Given the description of an element on the screen output the (x, y) to click on. 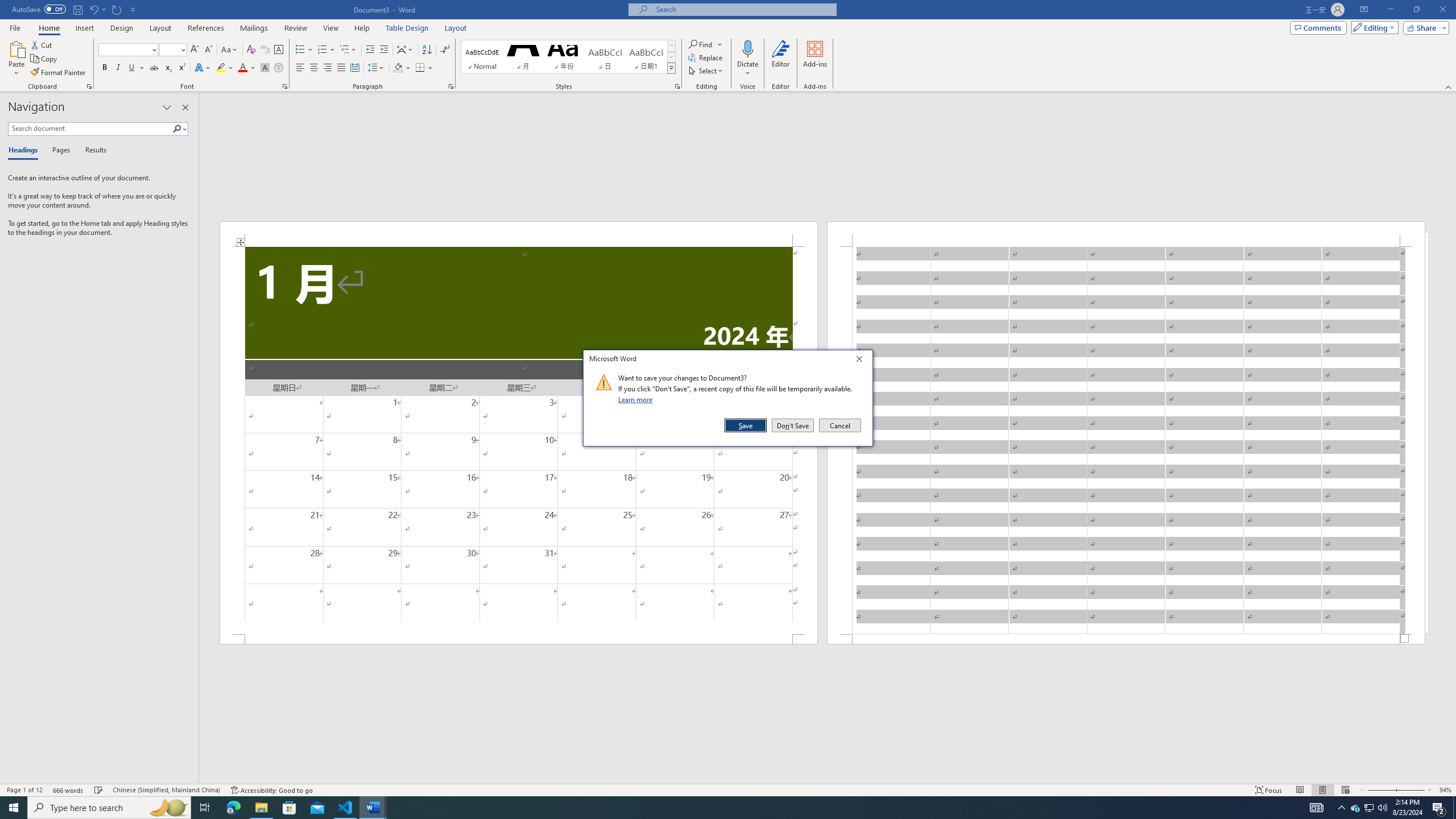
Header -Section 1- (1126, 233)
Microsoft Edge (233, 807)
Cancel (839, 425)
Visual Studio Code - 1 running window (345, 807)
Action Center, 2 new notifications (1355, 807)
Running applications (1439, 807)
